Given the description of an element on the screen output the (x, y) to click on. 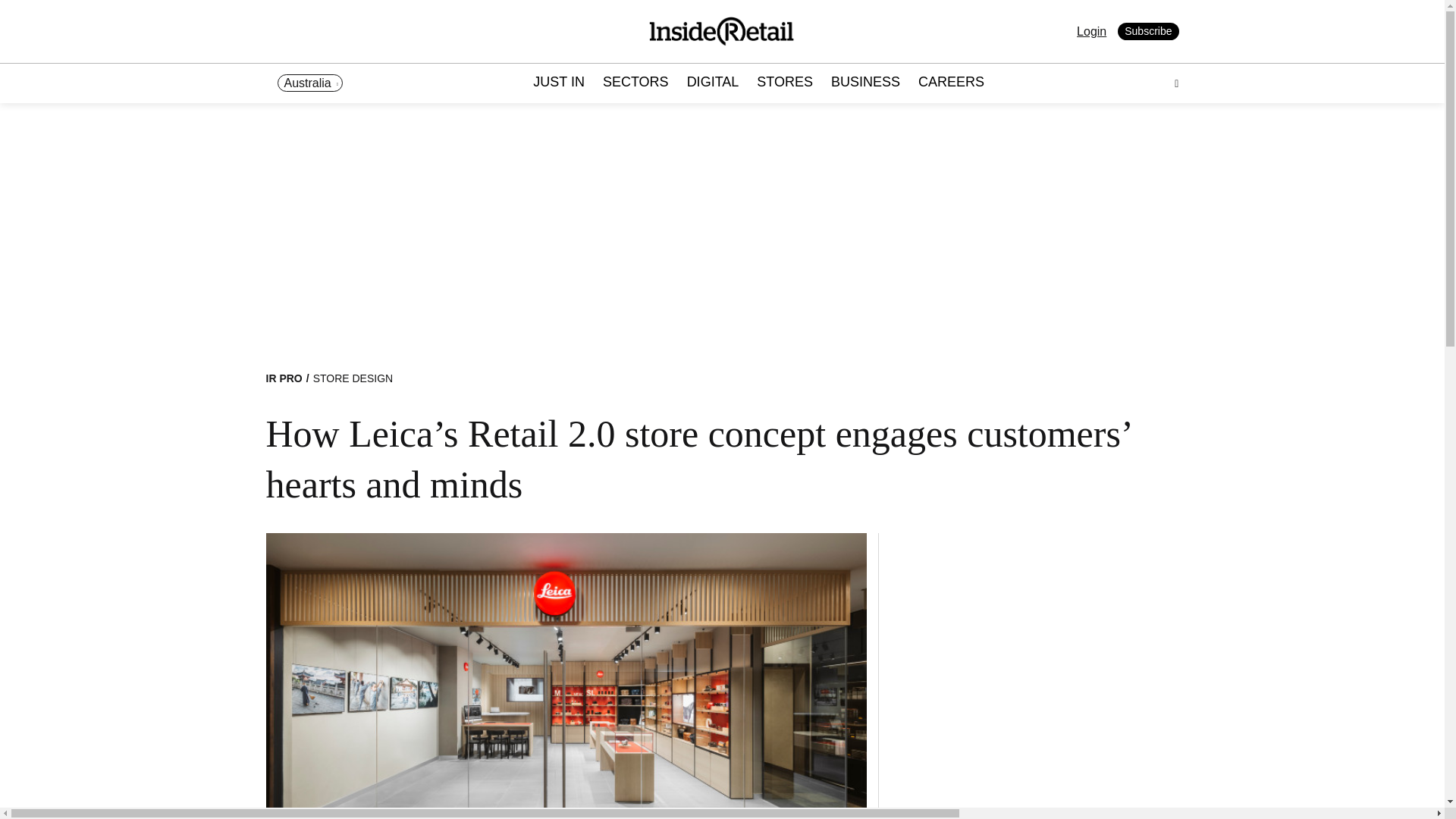
DIGITAL (712, 83)
Australia (310, 82)
SECTORS (635, 83)
Subscribe (1147, 31)
Login (1091, 31)
JUST IN (558, 83)
